Given the description of an element on the screen output the (x, y) to click on. 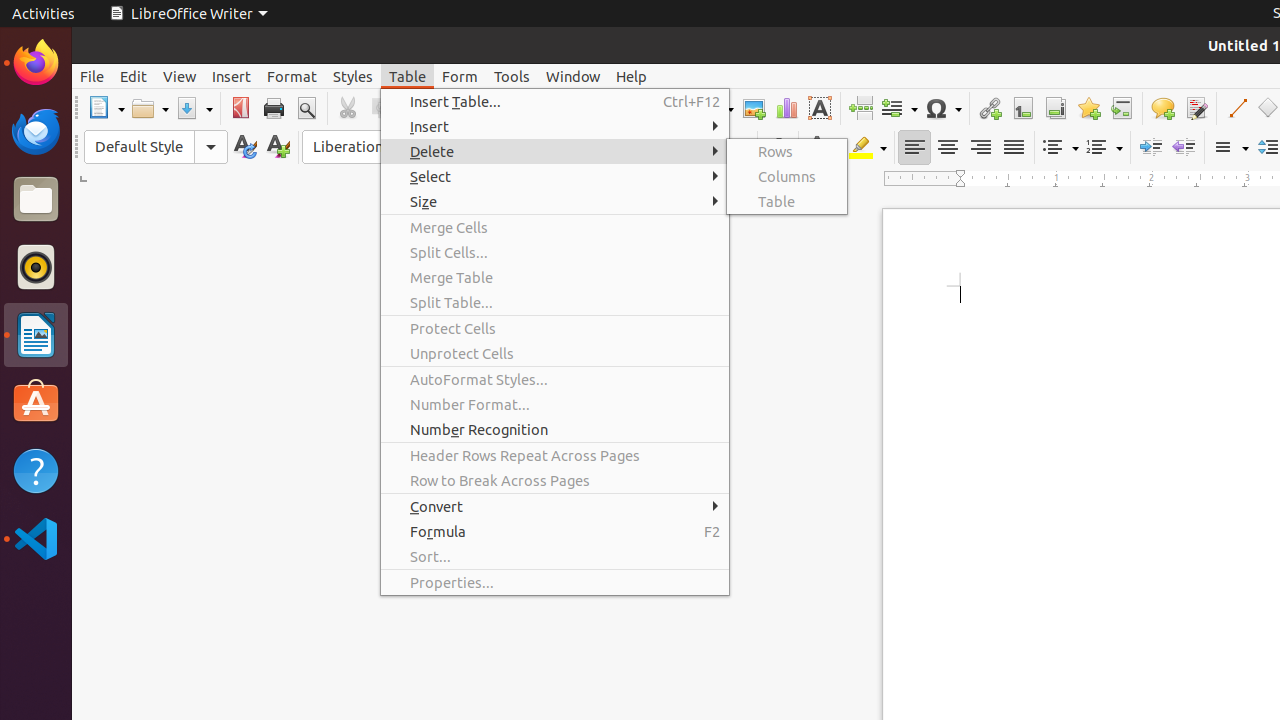
Ubuntu Software Element type: push-button (36, 402)
Justified Element type: toggle-button (1013, 147)
Columns Element type: menu-item (787, 176)
Sort... Element type: menu-item (555, 556)
Print Element type: push-button (273, 108)
